Given the description of an element on the screen output the (x, y) to click on. 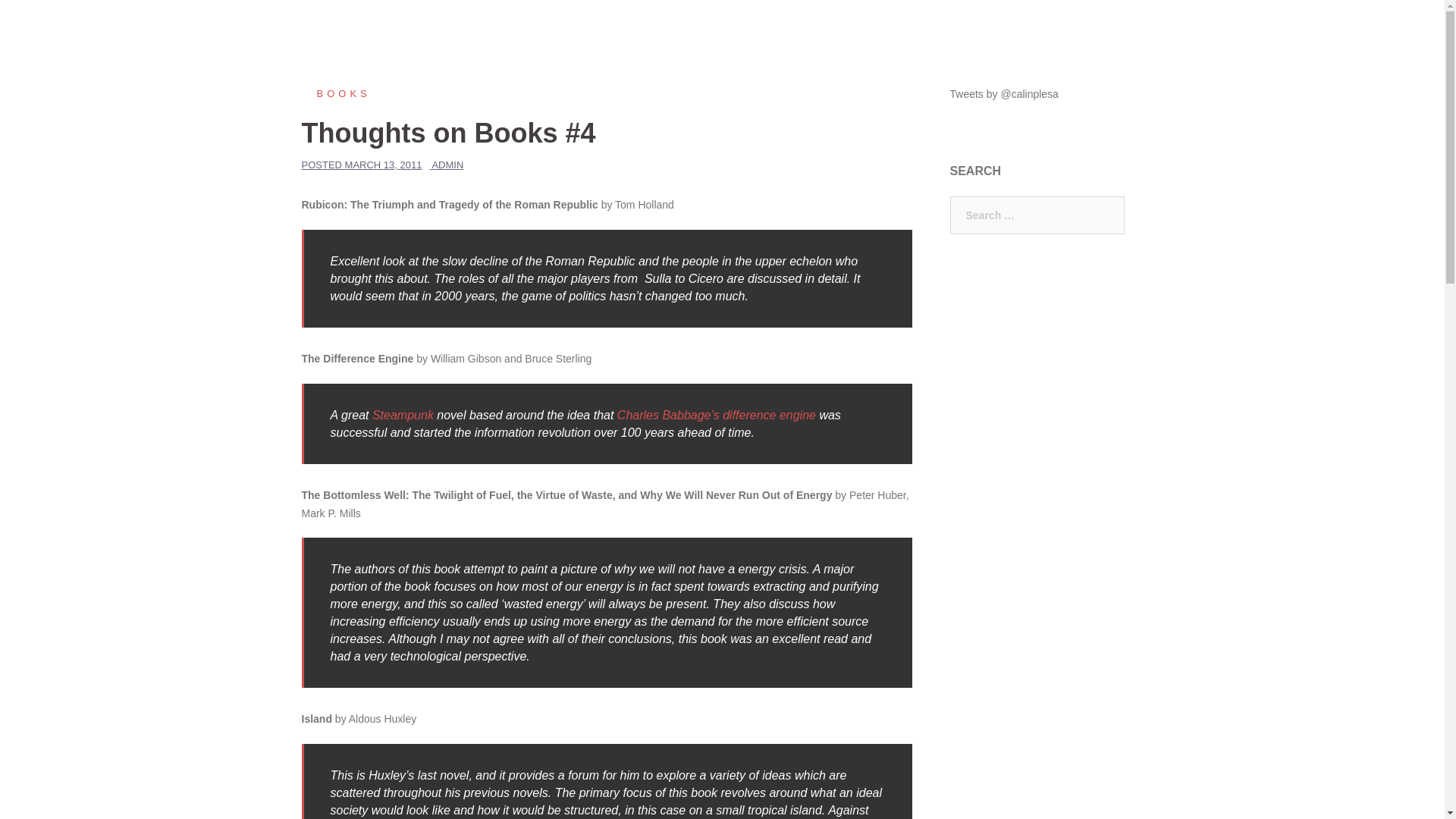
About (1130, 29)
ADMIN (446, 164)
Publications (1065, 29)
Books (336, 93)
Home (942, 29)
BOOKS (336, 93)
Search (47, 18)
Calin Plesa (354, 29)
Steampunk (402, 414)
Projects (997, 29)
difference engine (768, 414)
MARCH 13, 2011 (383, 164)
